Given the description of an element on the screen output the (x, y) to click on. 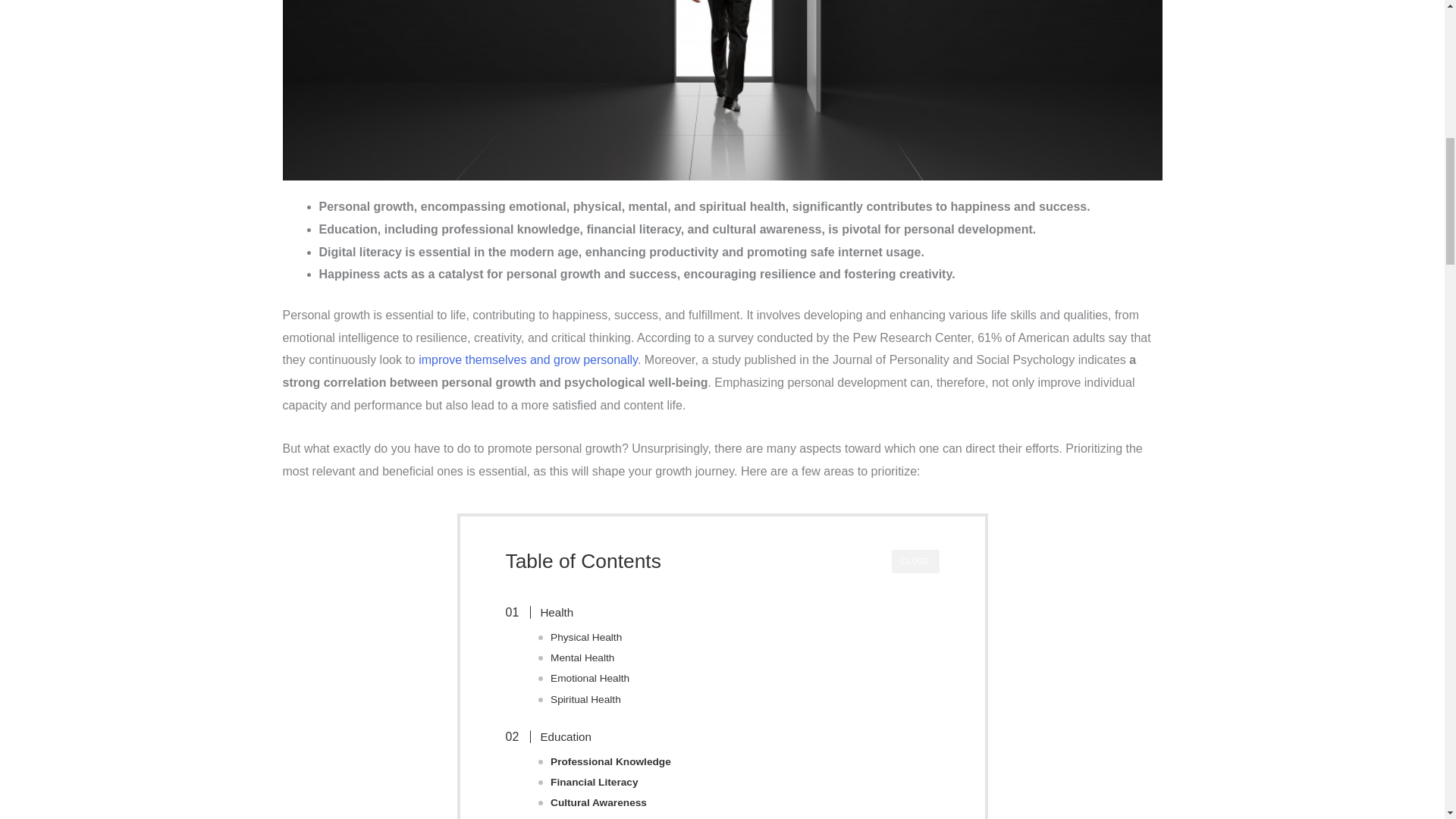
Physical Health (585, 637)
Emotional Health (589, 678)
Professional Knowledge (610, 761)
Financial Literacy (594, 781)
Health (547, 612)
Education (556, 737)
Cultural Awareness (598, 802)
CLOSE (915, 561)
Spiritual Health (585, 699)
improve themselves and grow personally (528, 359)
